Given the description of an element on the screen output the (x, y) to click on. 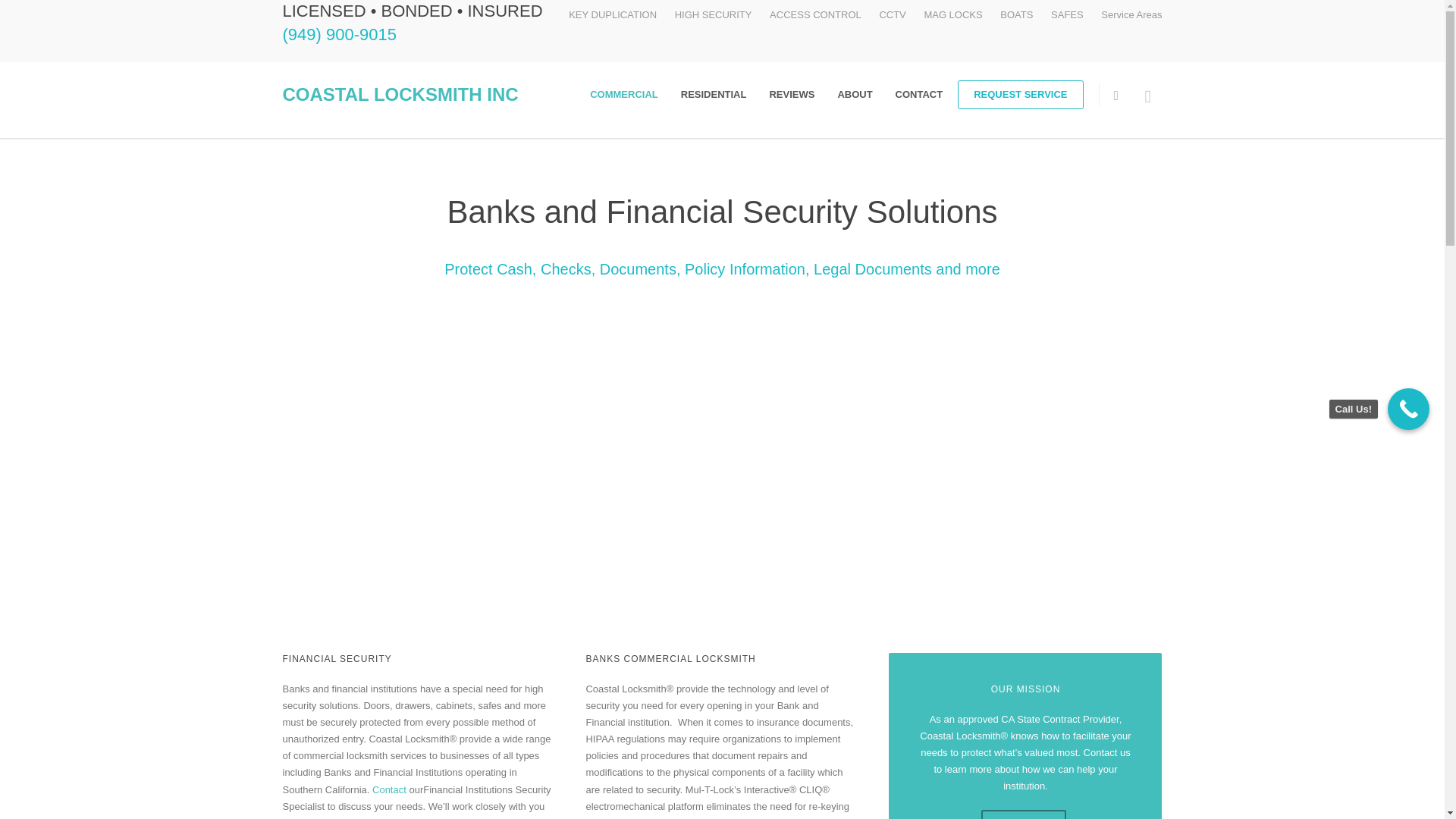
request locksmith service (1020, 94)
ACCESS CONTROL (815, 14)
residential locksmith (713, 94)
commercial locksmith (623, 94)
COASTAL LOCKSMITH INC (400, 94)
CONTACT (919, 94)
SAFES (1067, 14)
access control (815, 14)
high security (713, 14)
locksmith services area (1130, 14)
